Given the description of an element on the screen output the (x, y) to click on. 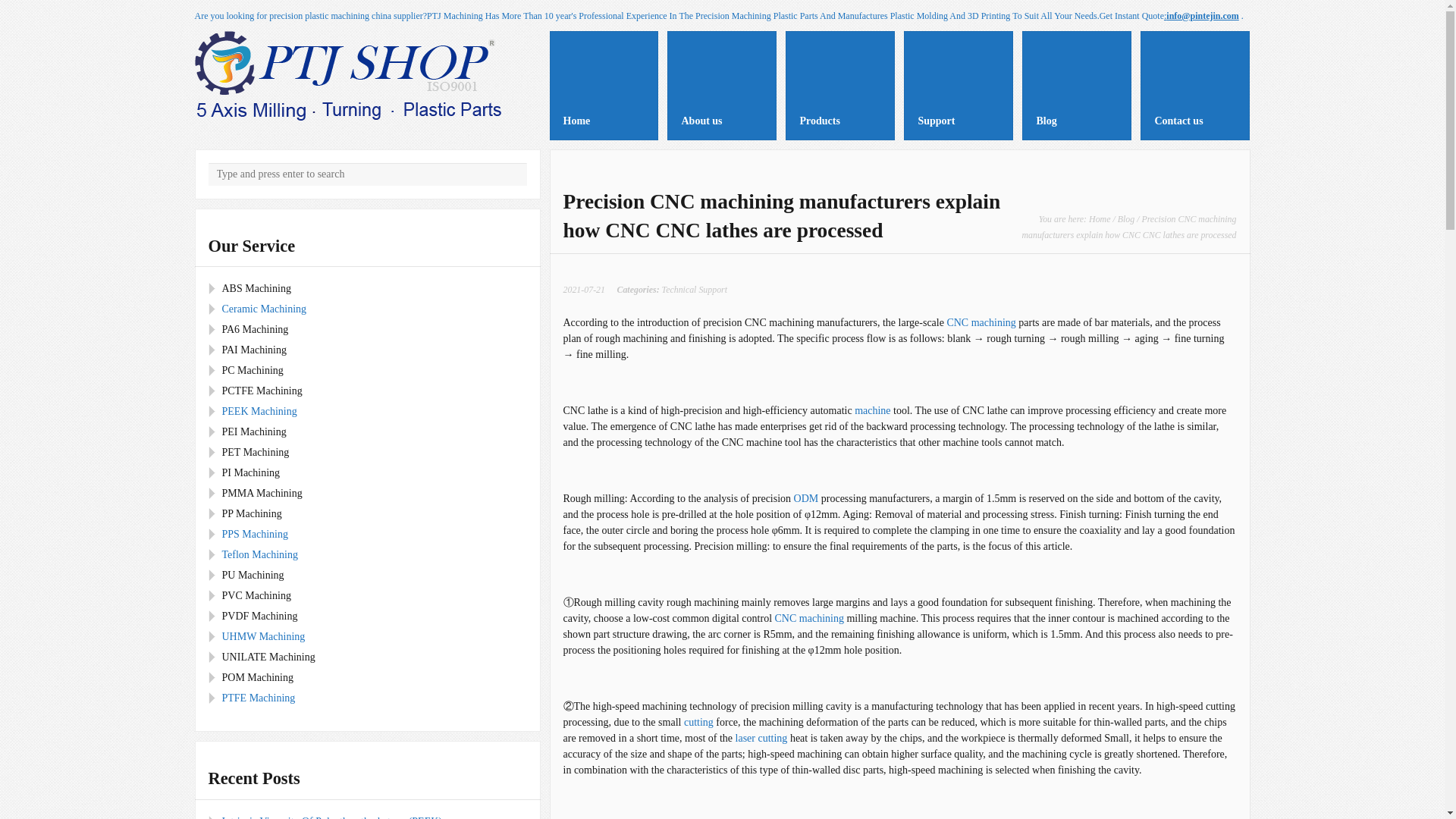
Ceramic Machining (263, 308)
cutting (698, 722)
Home (1099, 218)
Products (840, 85)
Teflon Machining (259, 554)
PEEK Machining (259, 410)
Support (958, 85)
Contact us (1194, 85)
Blog (1126, 218)
Technical Support (694, 289)
laser cutting (762, 737)
Blog (1076, 85)
UHMW Machining (262, 636)
CNC machining (980, 322)
machine (871, 410)
